Given the description of an element on the screen output the (x, y) to click on. 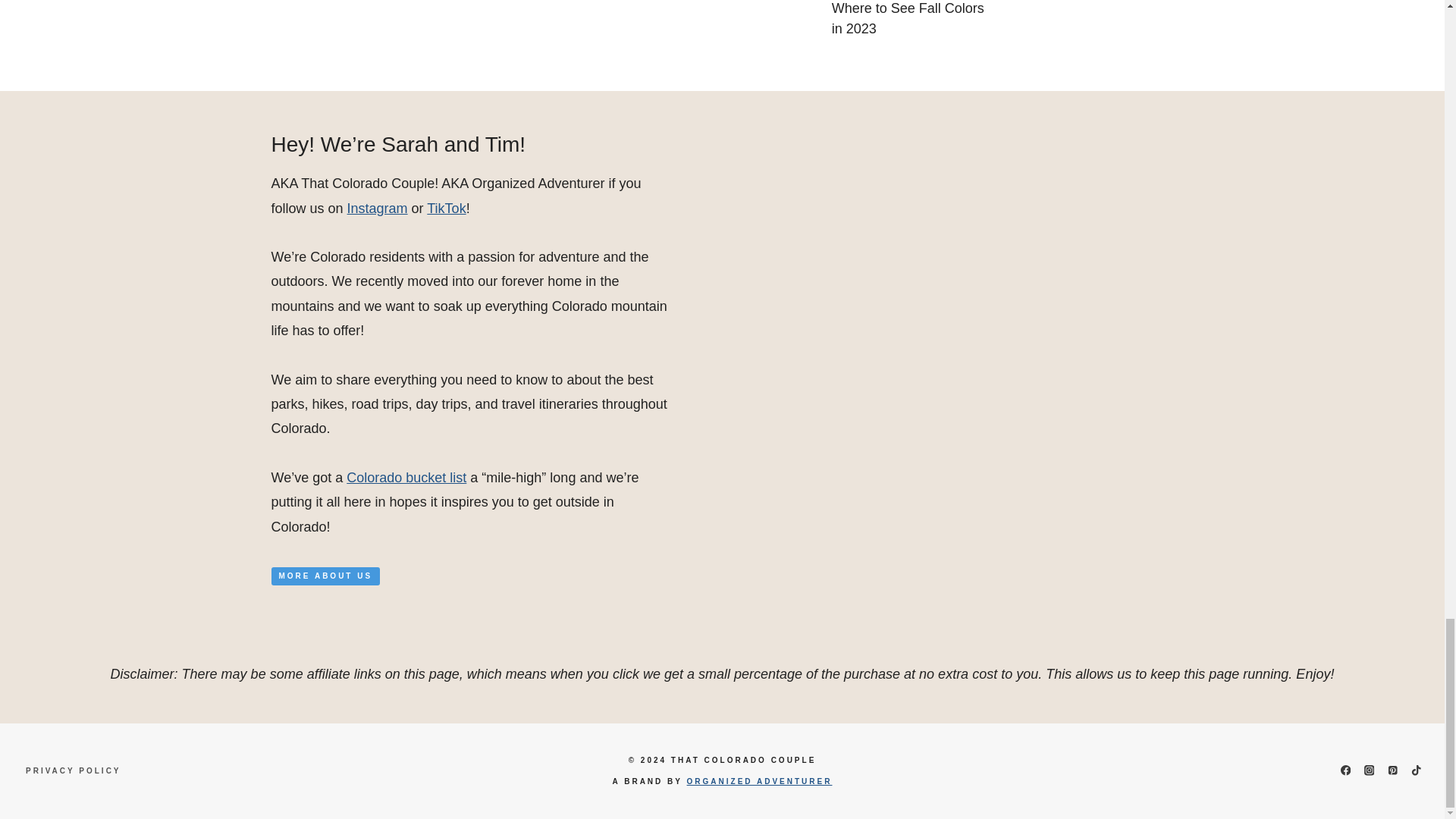
MORE ABOUT US (325, 576)
Colorado bucket list (405, 477)
TikTok (445, 208)
TikTok (445, 208)
Instagram (377, 208)
Colorado Bucket List (405, 477)
Instagram (377, 208)
